Given the description of an element on the screen output the (x, y) to click on. 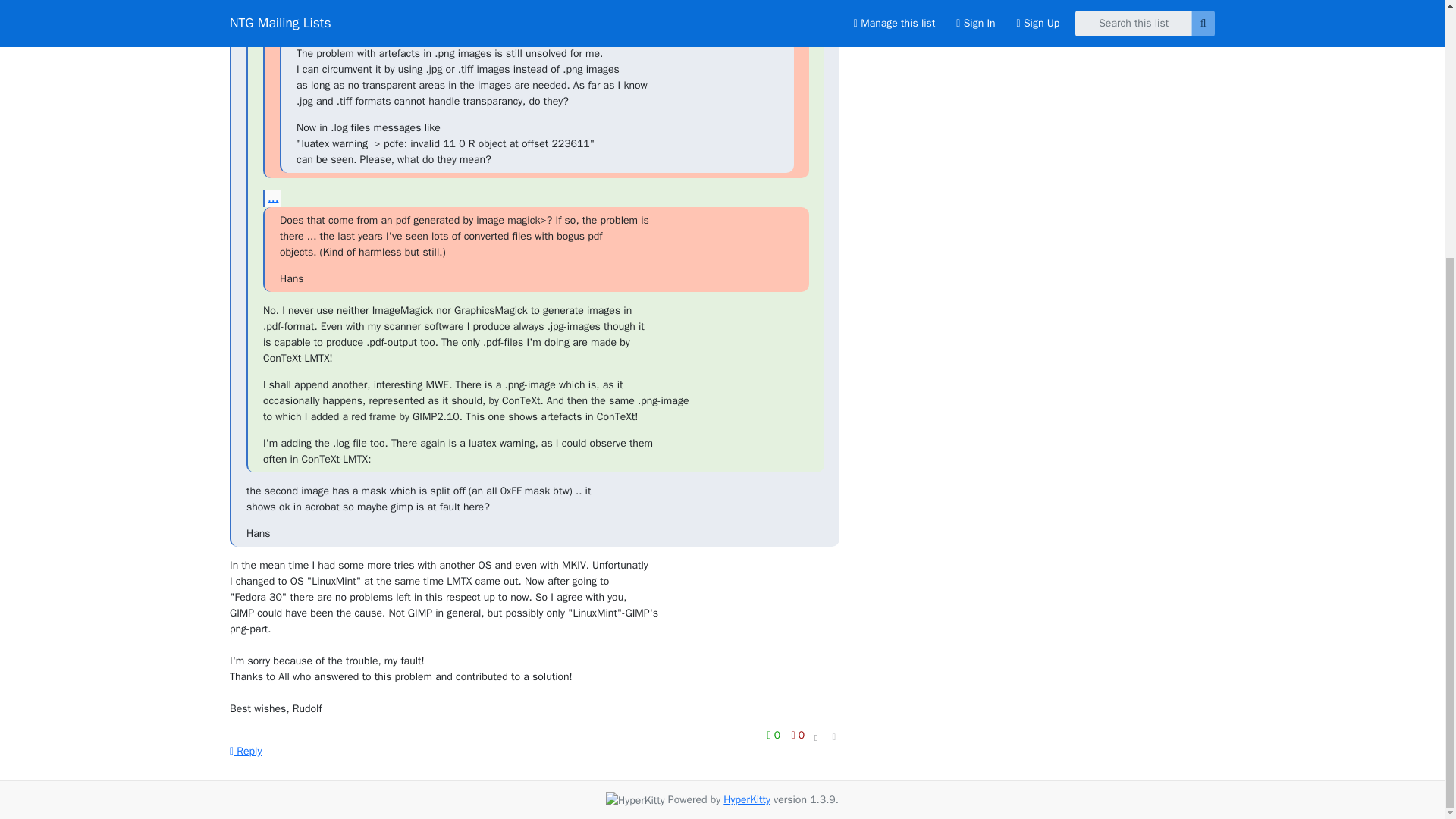
... (272, 198)
0 (774, 734)
Reply (246, 750)
... (288, 31)
HyperKitty (746, 799)
0 (797, 734)
Reply (246, 750)
You must be logged-in to vote. (774, 734)
You must be logged-in to vote. (797, 734)
